Given the description of an element on the screen output the (x, y) to click on. 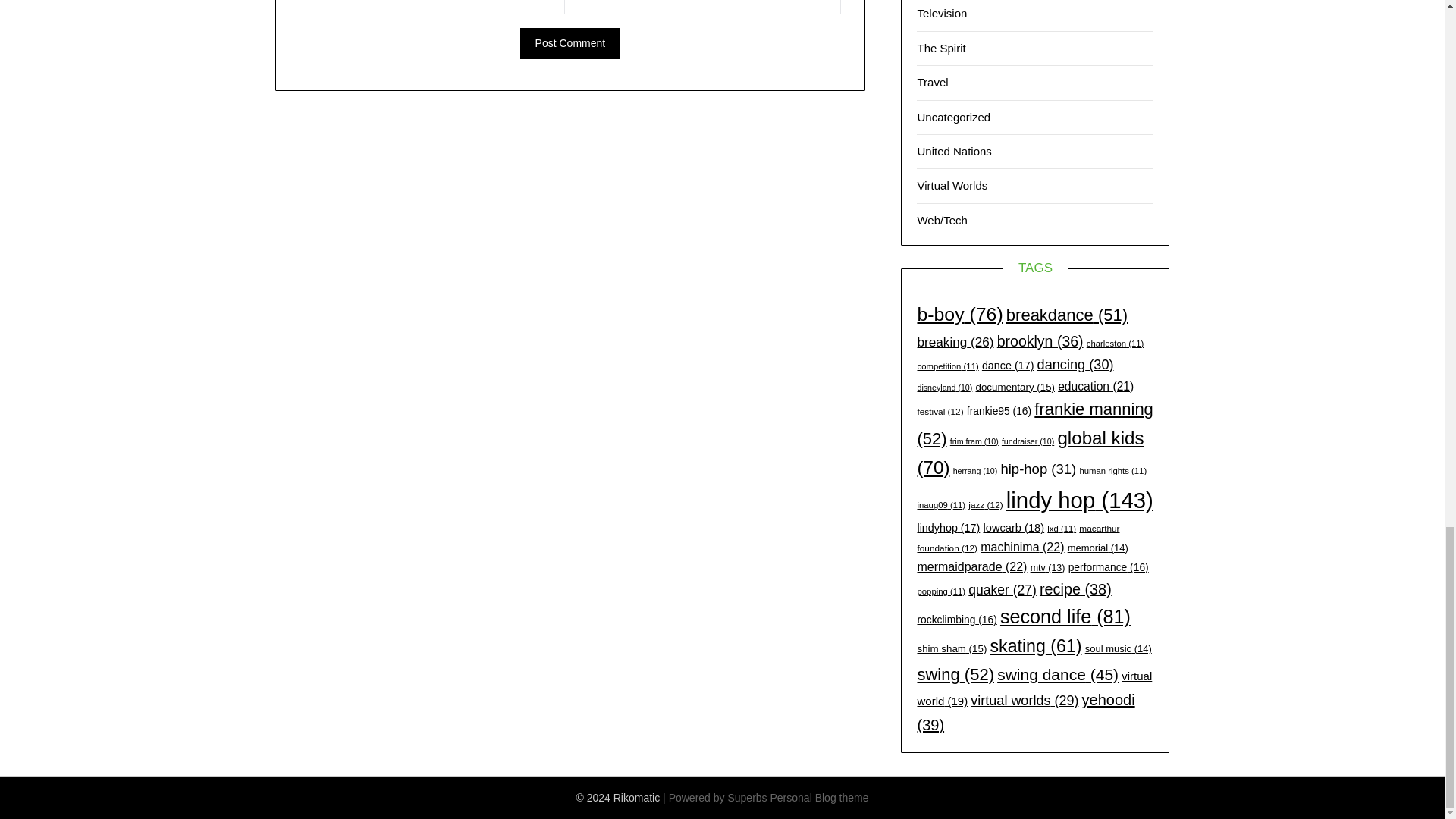
Post Comment (570, 42)
Post Comment (570, 42)
